Given the description of an element on the screen output the (x, y) to click on. 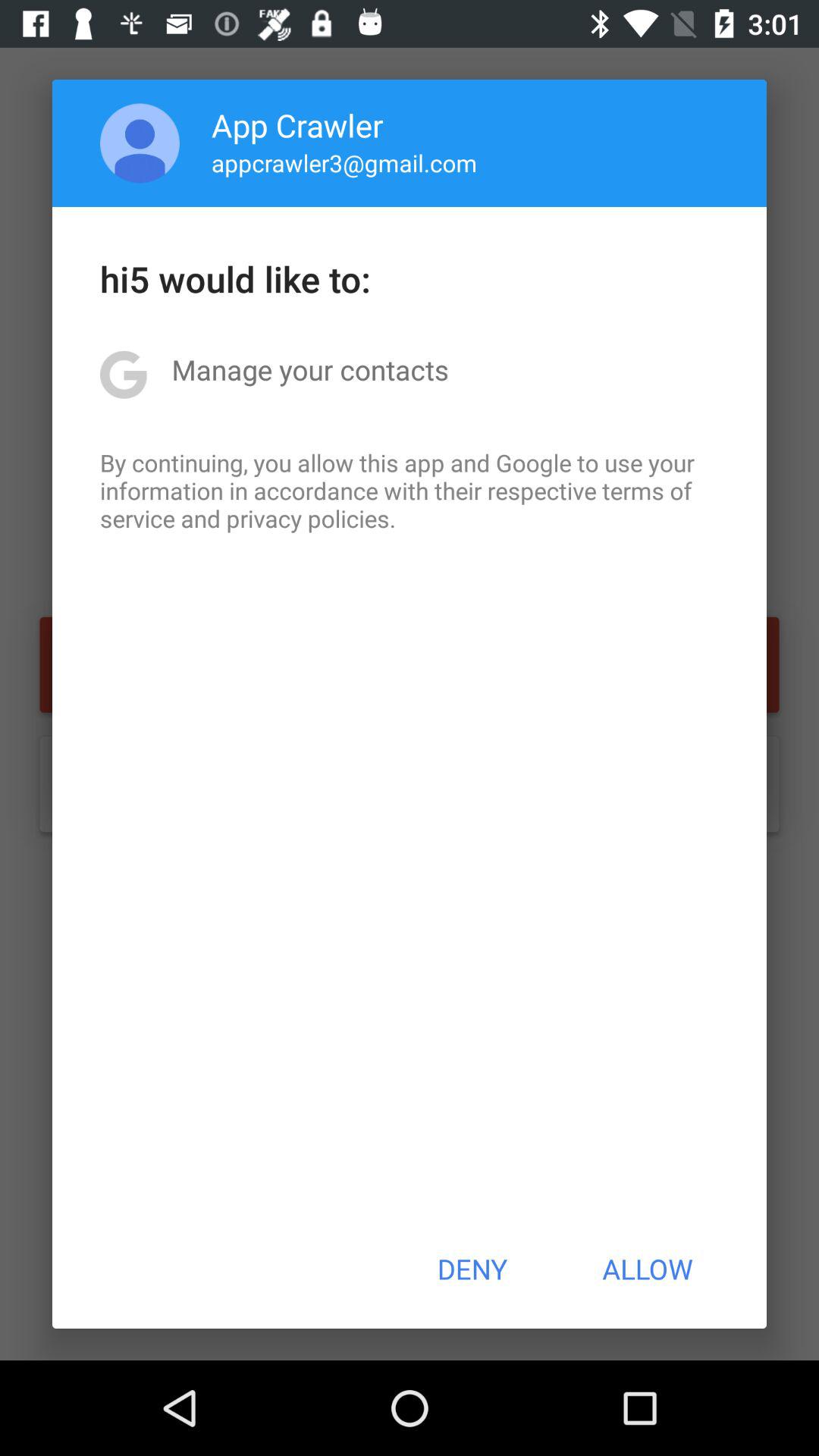
turn on the appcrawler3@gmail.com app (344, 162)
